Given the description of an element on the screen output the (x, y) to click on. 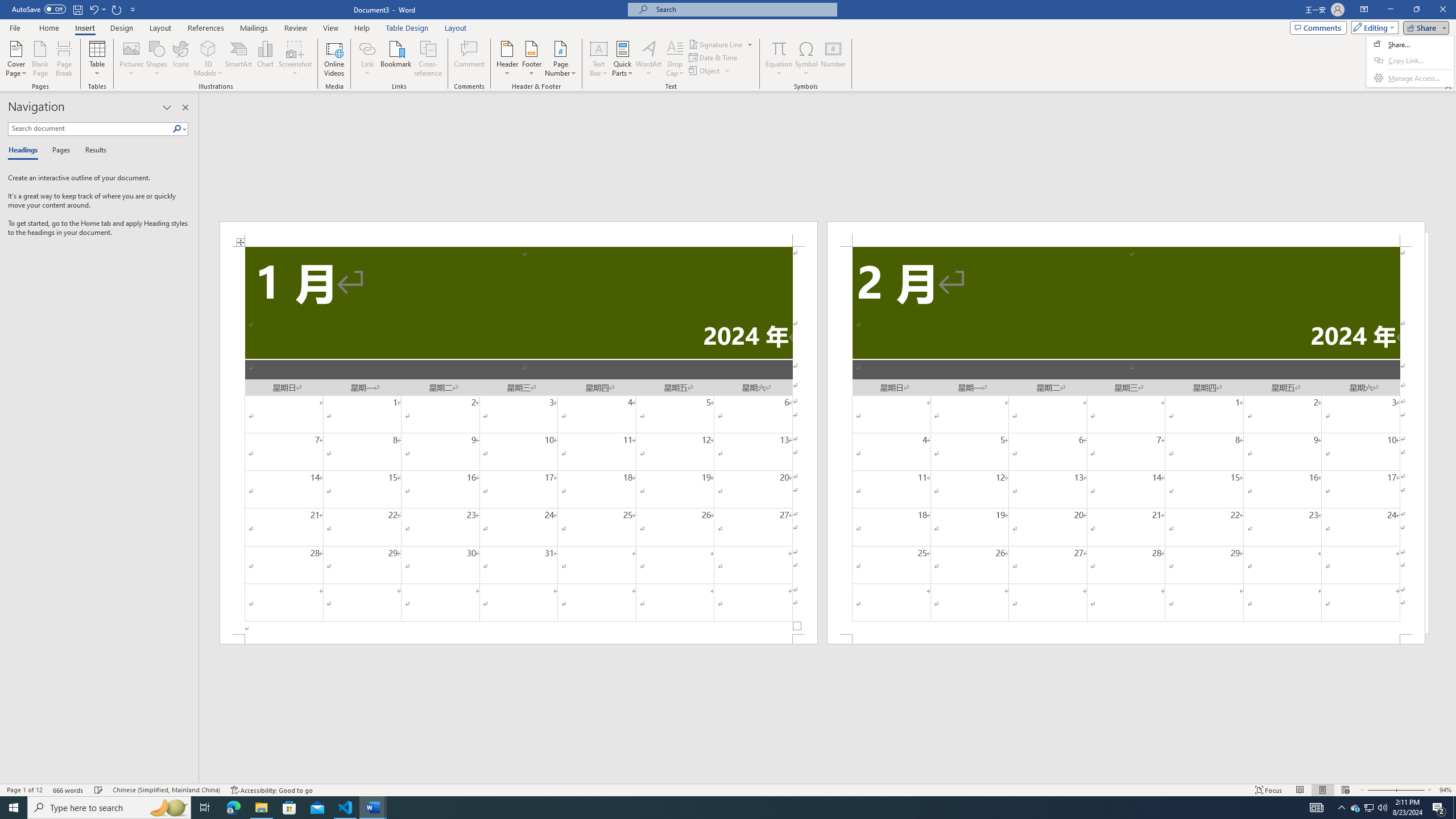
Running applications (717, 807)
Date & Time... (714, 56)
Page 2 content (1126, 439)
Signature Line (721, 44)
Text Box (598, 58)
Footer -Section 2- (1126, 638)
